Given the description of an element on the screen output the (x, y) to click on. 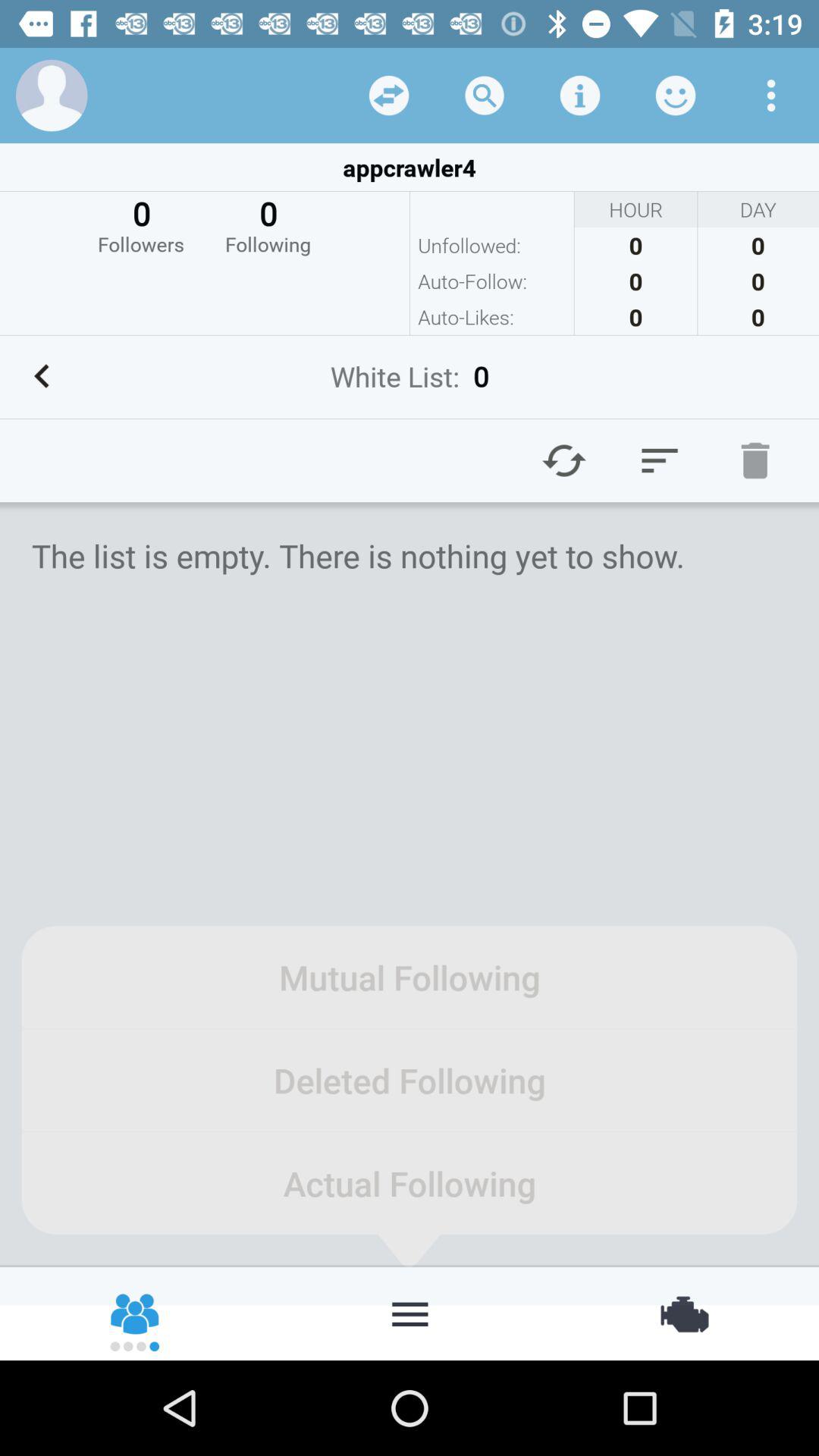
delete button (755, 460)
